Given the description of an element on the screen output the (x, y) to click on. 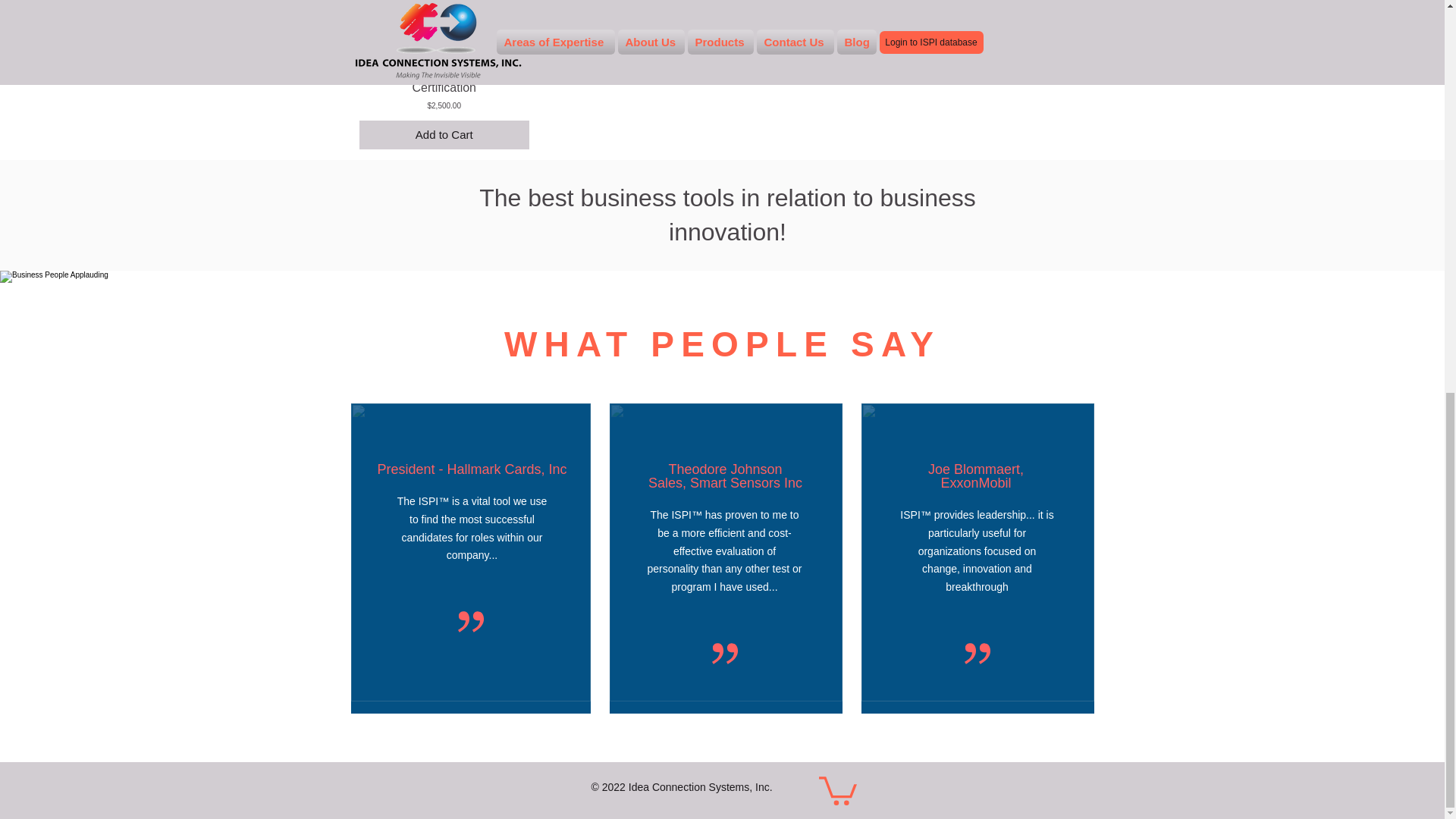
Add to Cart (444, 134)
